Given the description of an element on the screen output the (x, y) to click on. 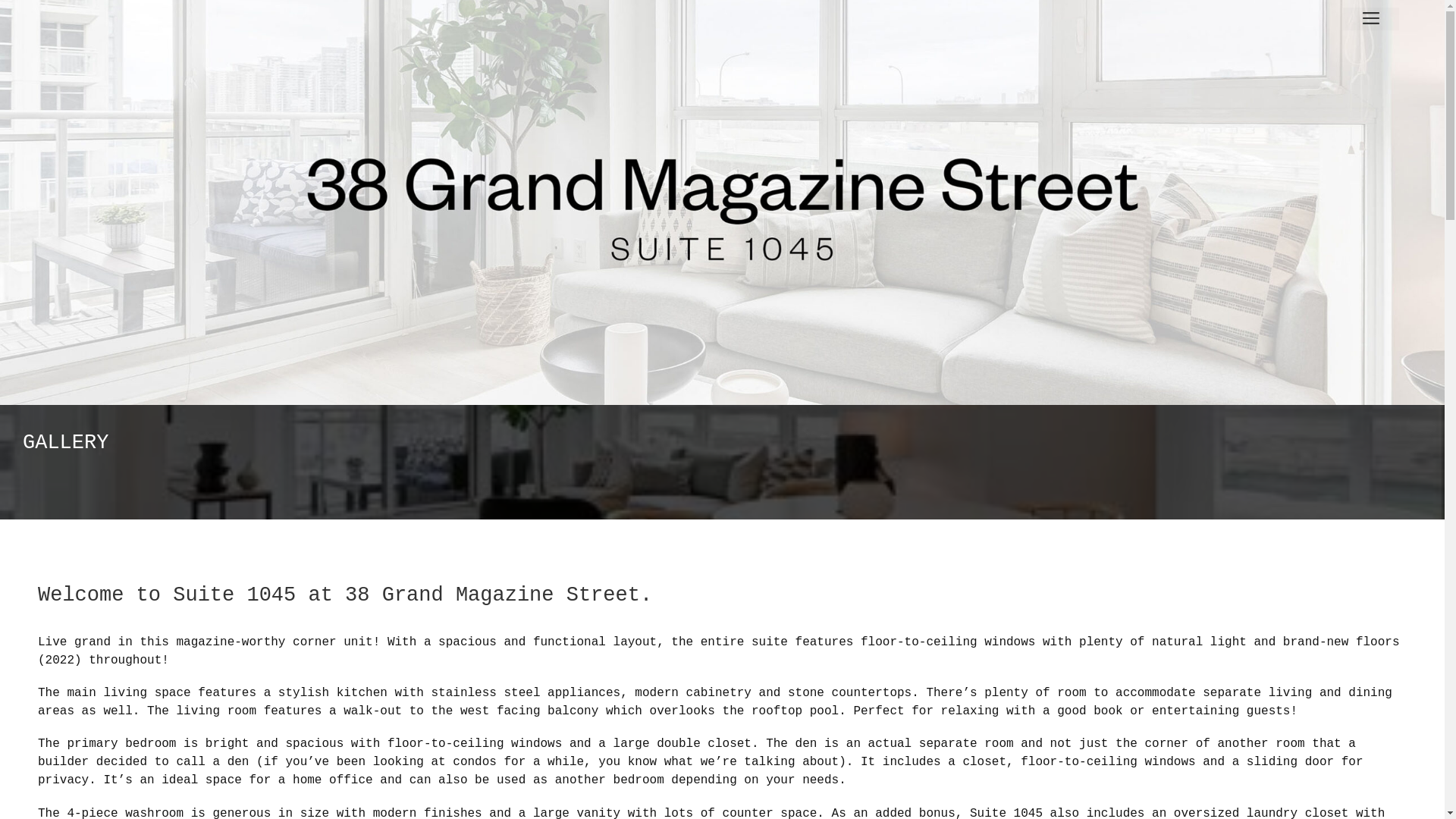
Menu Element type: text (1371, 18)
